Given the description of an element on the screen output the (x, y) to click on. 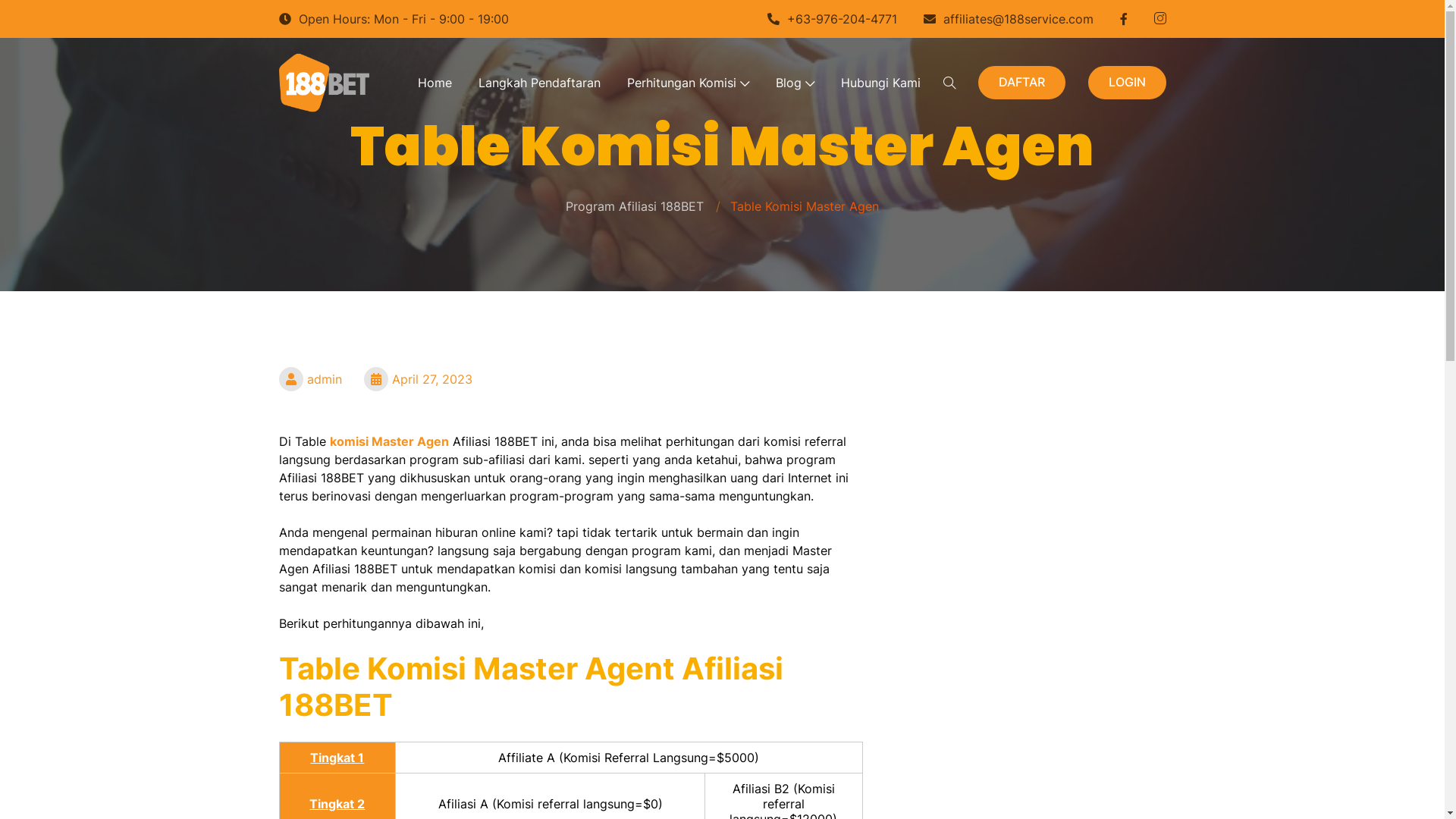
Langkah Pendaftaran Element type: text (539, 82)
Blog Element type: text (794, 82)
April 27, 2023 Element type: text (418, 379)
Program Afiliasi 188BET Element type: text (634, 205)
affiliates@188service.com Element type: text (1007, 18)
komisi Master Agen Element type: text (388, 440)
Perhitungan Komisi Element type: text (687, 82)
Open Hours: Mon - Fri - 9:00 - 19:00 Element type: text (392, 18)
+63-976-204-4771 Element type: text (831, 18)
DAFTAR Element type: text (1021, 81)
Home Element type: text (434, 82)
Hubungi Kami Element type: text (880, 82)
admin Element type: text (310, 379)
LOGIN Element type: text (1126, 81)
